Given the description of an element on the screen output the (x, y) to click on. 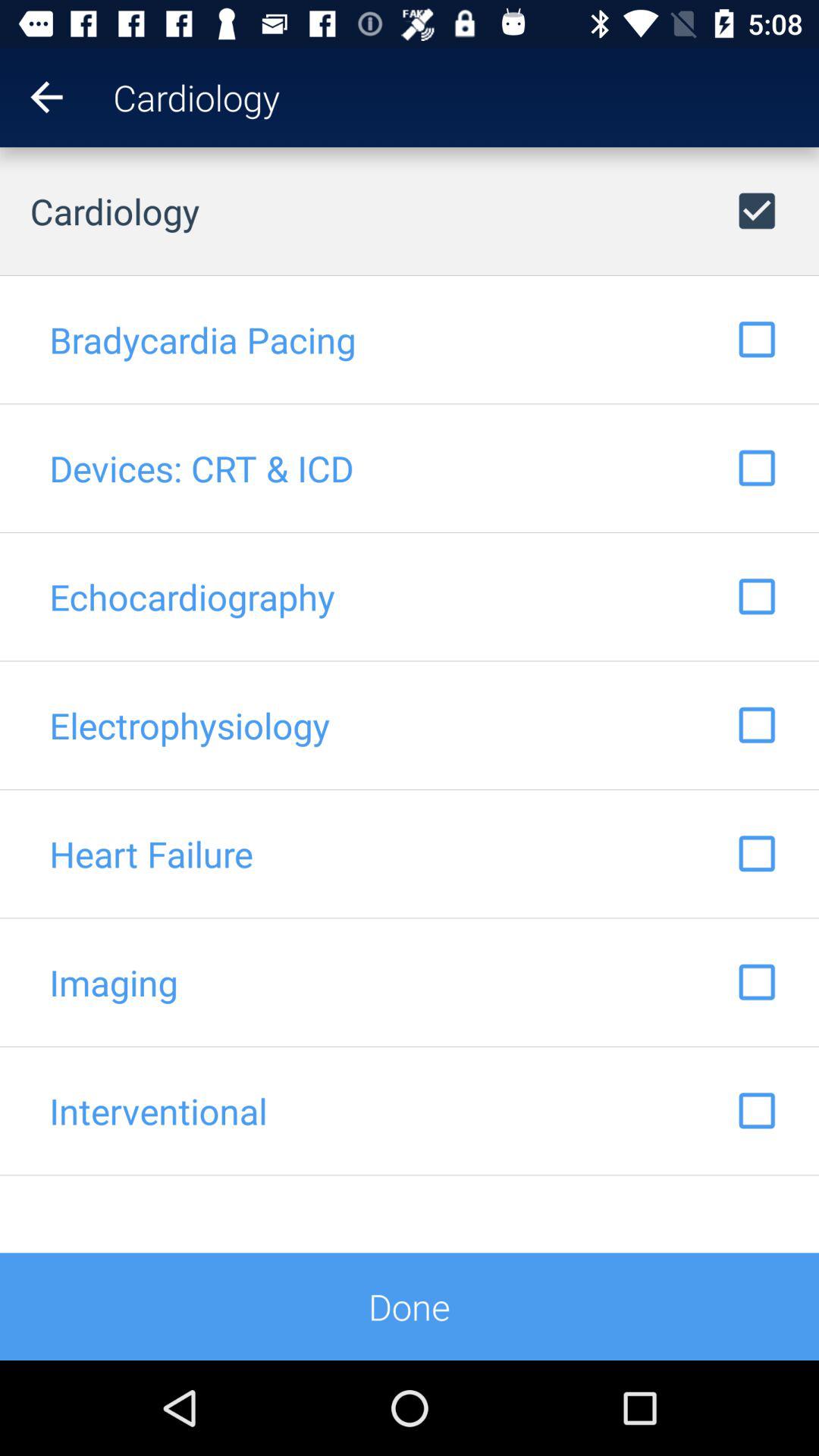
press the item above cardiology item (31, 97)
